Given the description of an element on the screen output the (x, y) to click on. 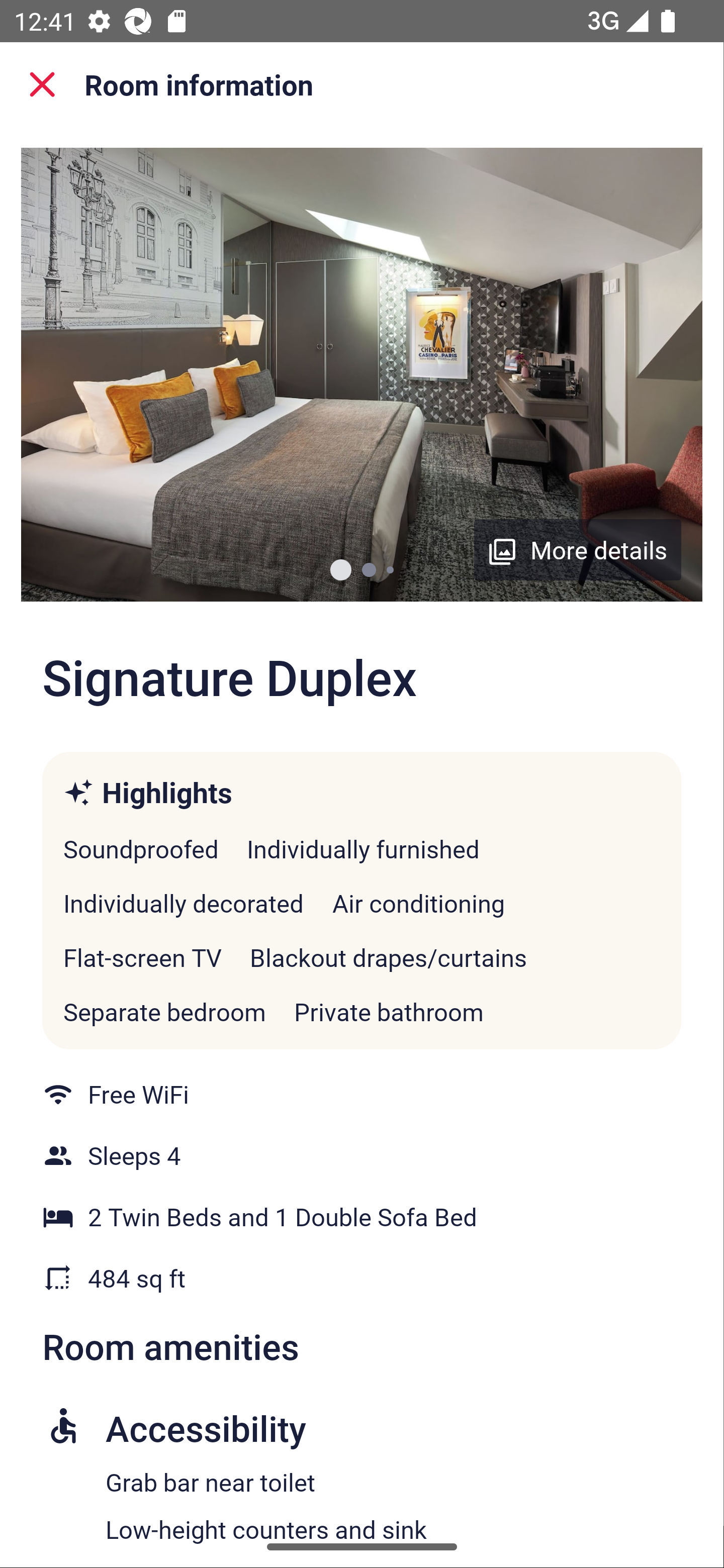
Close (42, 84)
Signature Duplex | Living area | Flat-screen TV (361, 374)
Gallery button with 3 images (577, 550)
